Given the description of an element on the screen output the (x, y) to click on. 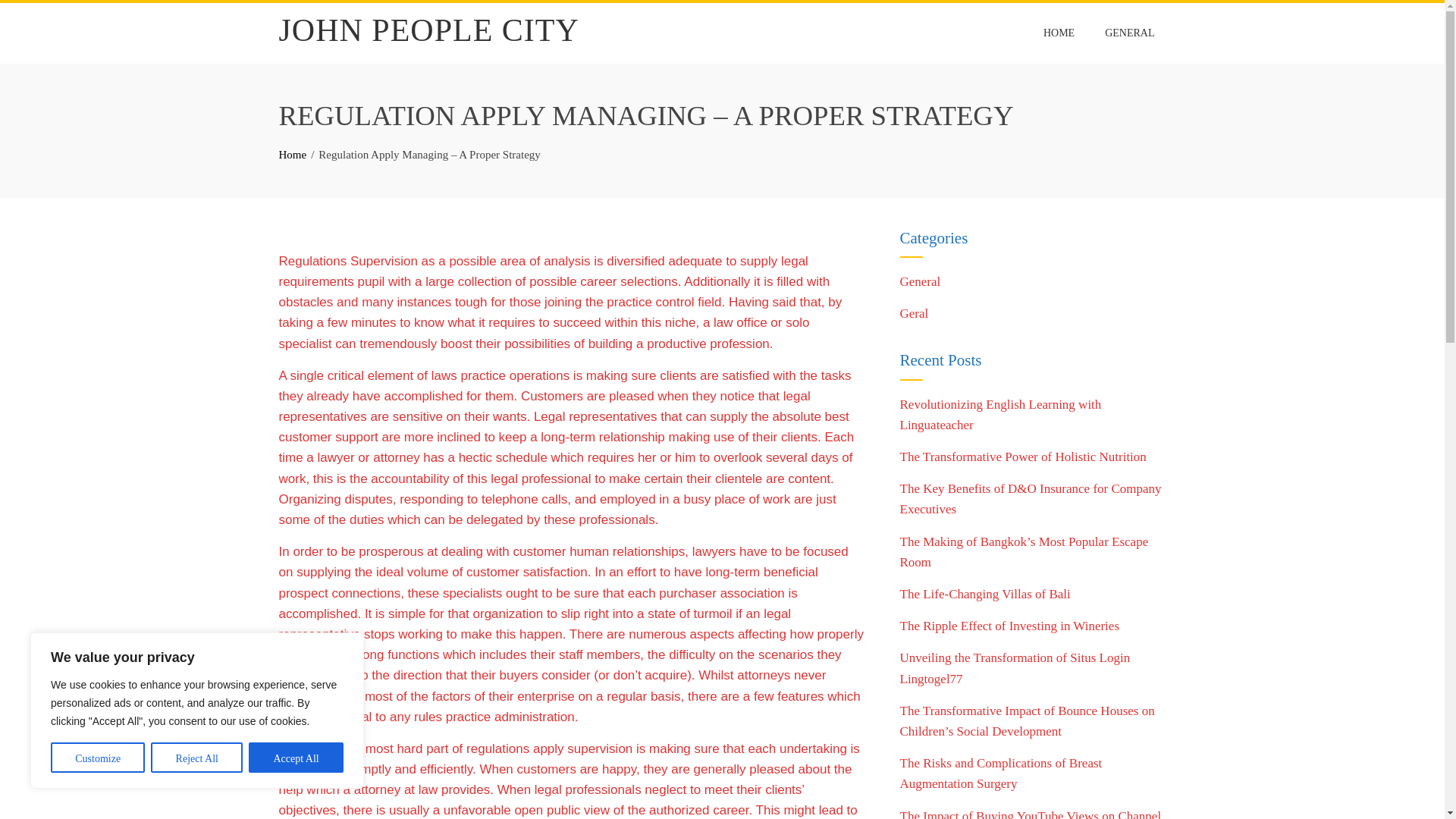
Home (293, 154)
Geral (913, 313)
The Impact of Buying YouTube Views on Channel Growth (1029, 814)
Unveiling the Transformation of Situs Login Lingtogel77 (1014, 667)
Accept All (295, 757)
General (919, 281)
Customize (97, 757)
HOME (1059, 32)
The Transformative Power of Holistic Nutrition (1022, 456)
GENERAL (1129, 32)
The Life-Changing Villas of Bali (984, 594)
Revolutionizing English Learning with Linguateacher (999, 414)
The Ripple Effect of Investing in Wineries (1009, 626)
The Risks and Complications of Breast Augmentation Surgery (1000, 773)
Reject All (197, 757)
